Given the description of an element on the screen output the (x, y) to click on. 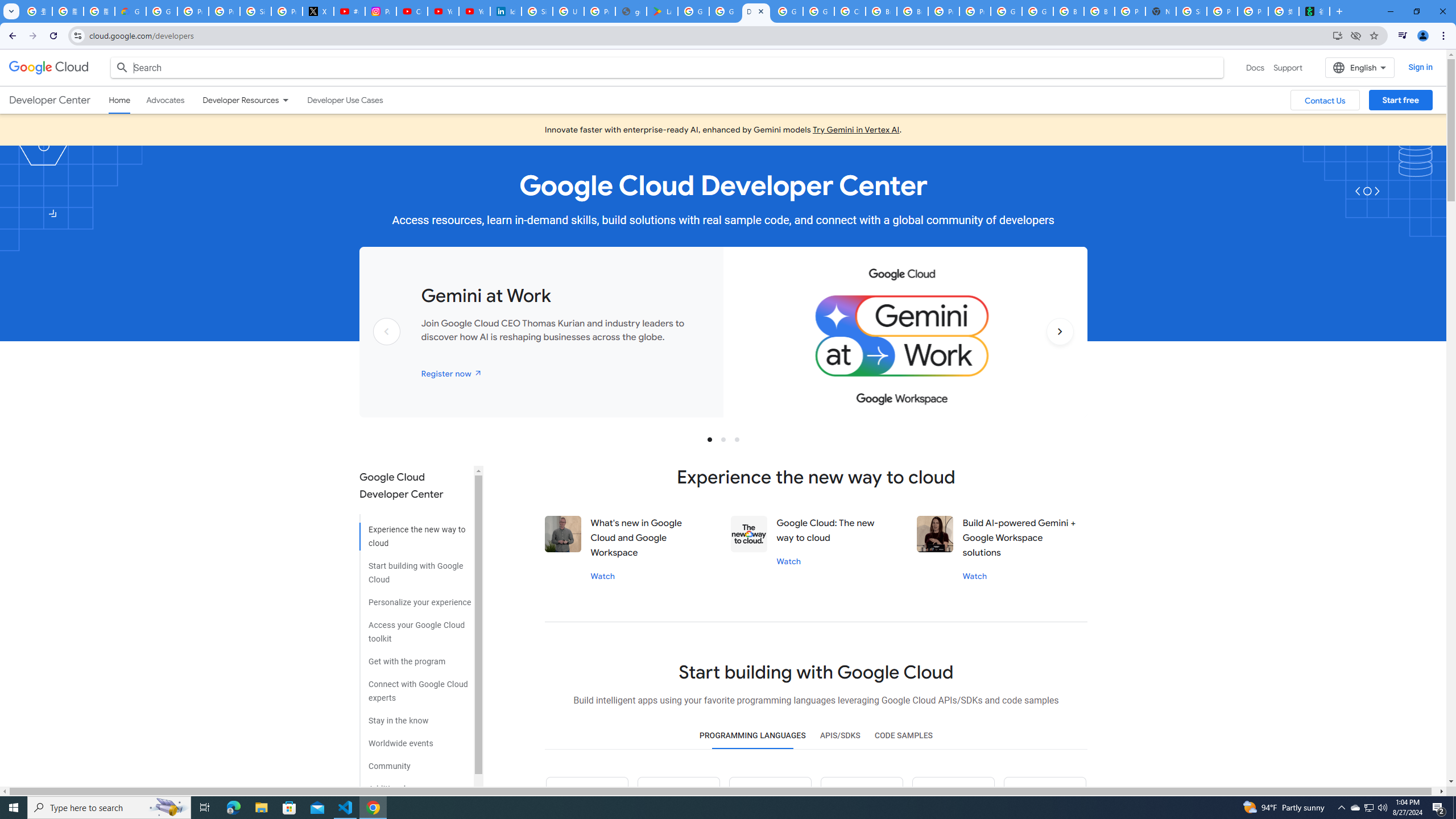
Last Shelter: Survival - Apps on Google Play (662, 11)
Google Cloud Platform (1037, 11)
Sign in - Google Accounts (536, 11)
CODE SAMPLES (903, 735)
Browse Chrome as a guest - Computer - Google Chrome Help (1098, 11)
Developer Center (49, 100)
Community (415, 762)
PROGRAMMING LANGUAGES (752, 735)
Personalize your experience (415, 598)
Stay in the know (415, 716)
